Given the description of an element on the screen output the (x, y) to click on. 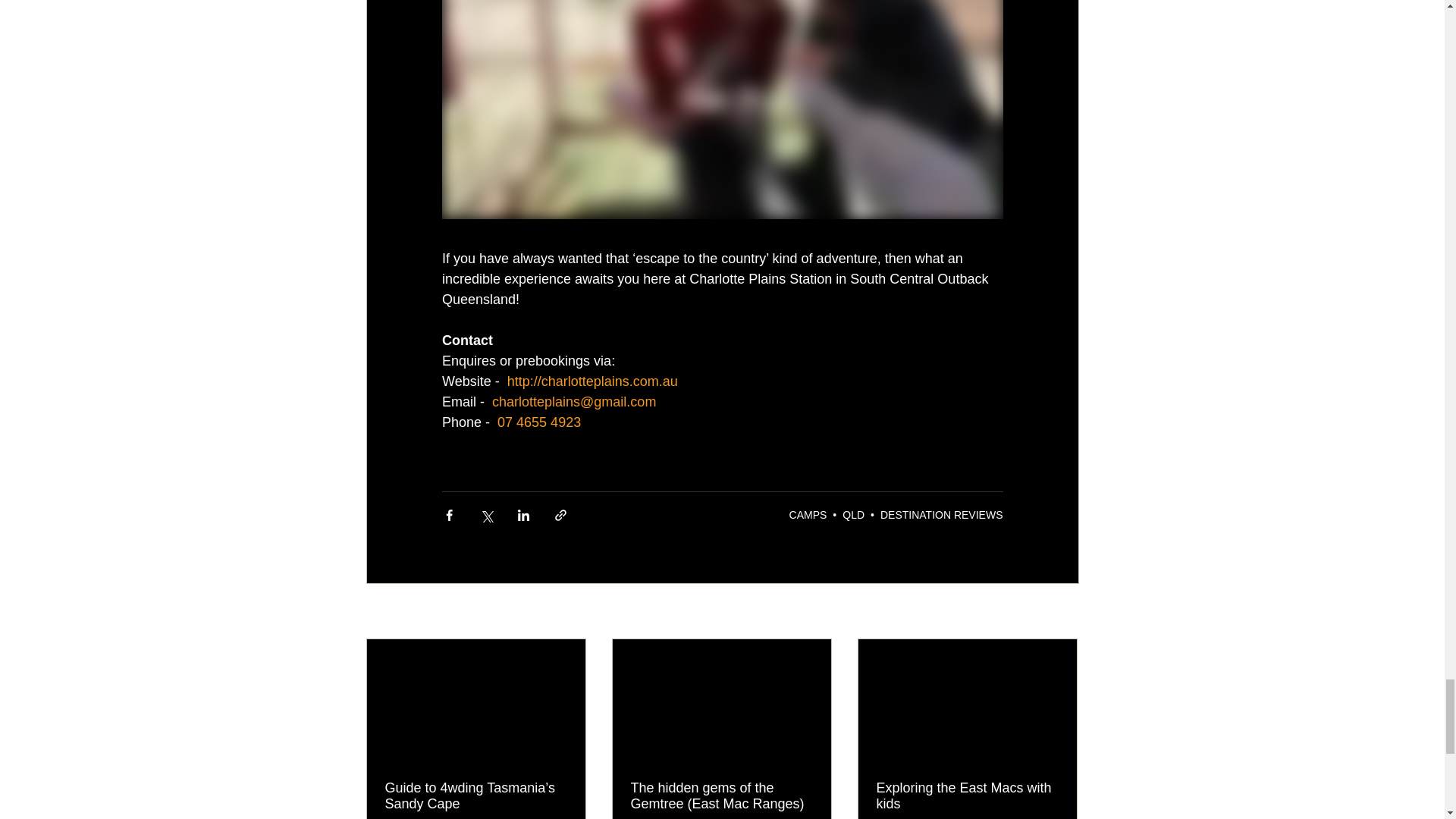
See All (1061, 612)
QLD (853, 514)
DESTINATION REVIEWS (941, 514)
CAMPS (808, 514)
Exploring the East Macs with kids (967, 796)
